Given the description of an element on the screen output the (x, y) to click on. 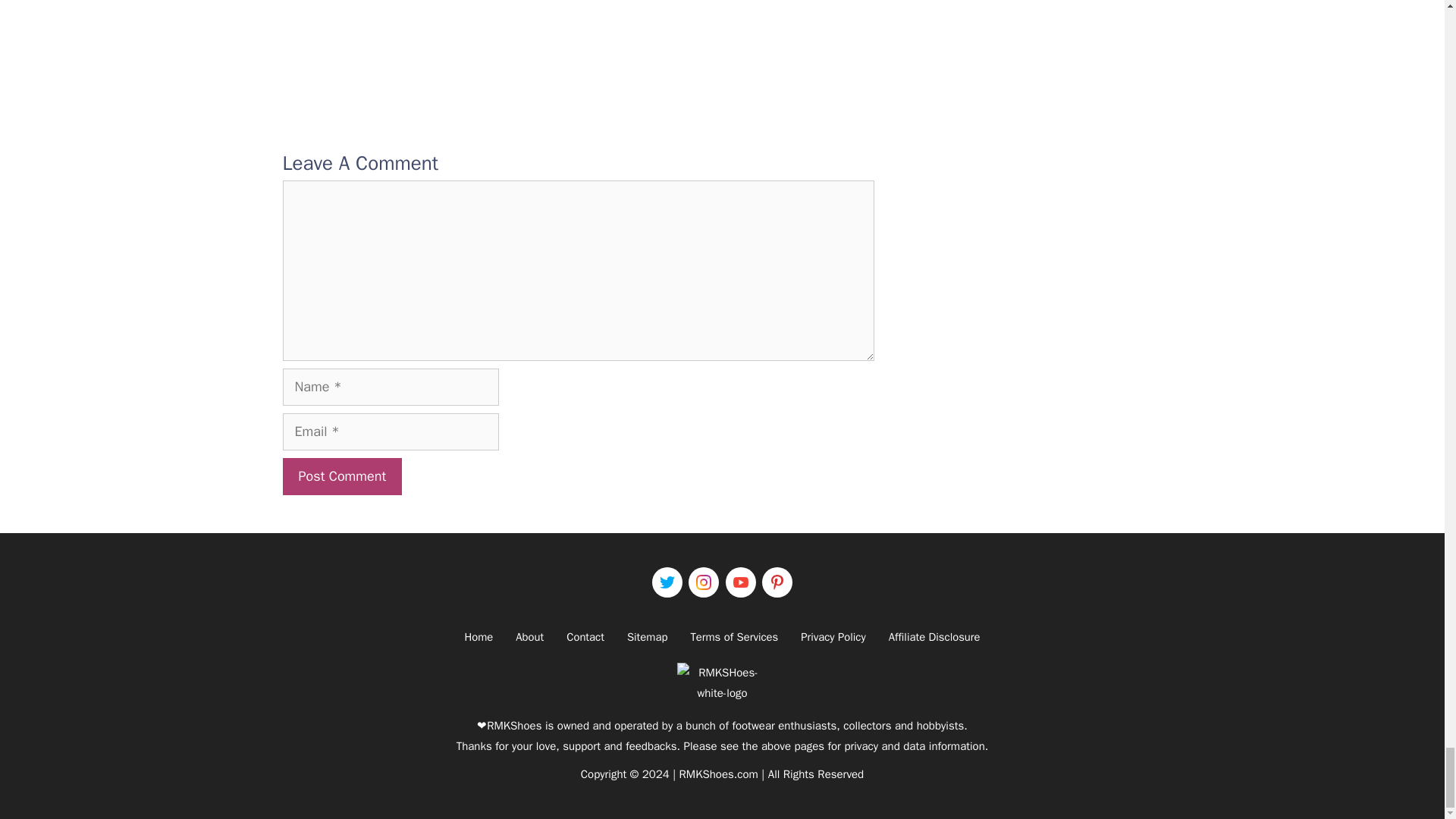
Post Comment (341, 476)
Twitter (667, 582)
Pinterest (776, 582)
Youtube (740, 582)
Instagram (703, 582)
